Given the description of an element on the screen output the (x, y) to click on. 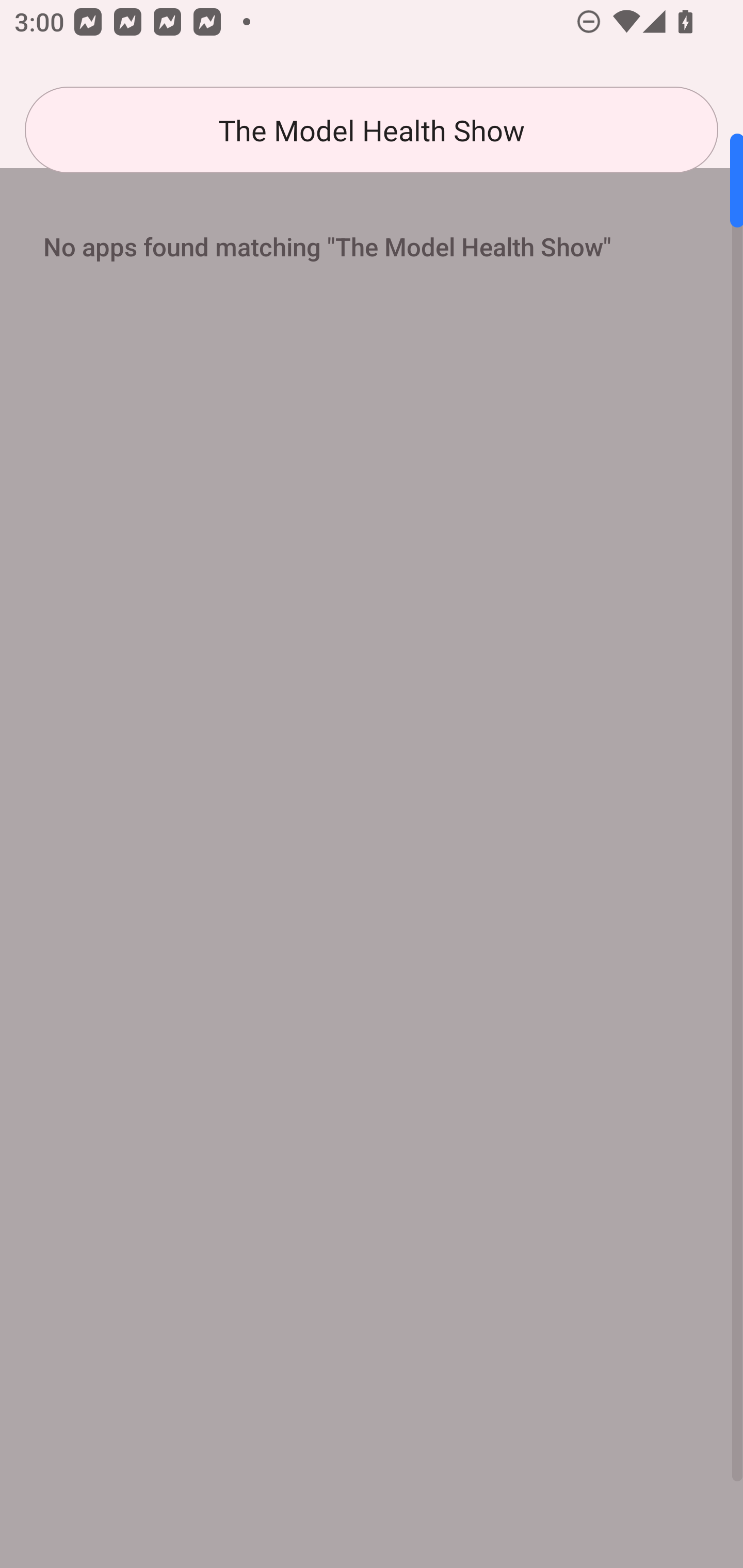
The Model Health Show (371, 130)
